Given the description of an element on the screen output the (x, y) to click on. 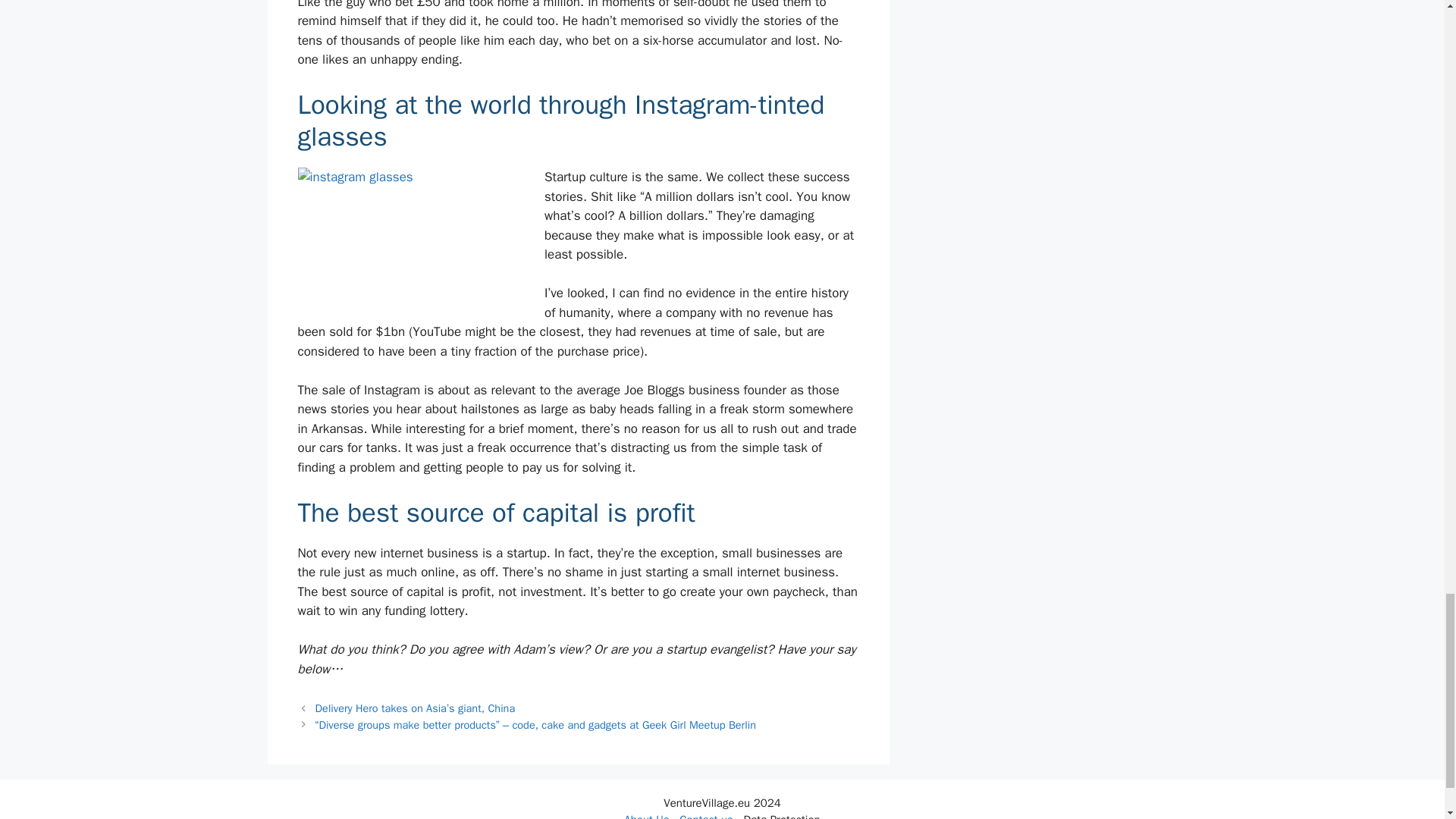
Contact us (706, 816)
instagram glasses (410, 238)
About Us (646, 816)
